Given the description of an element on the screen output the (x, y) to click on. 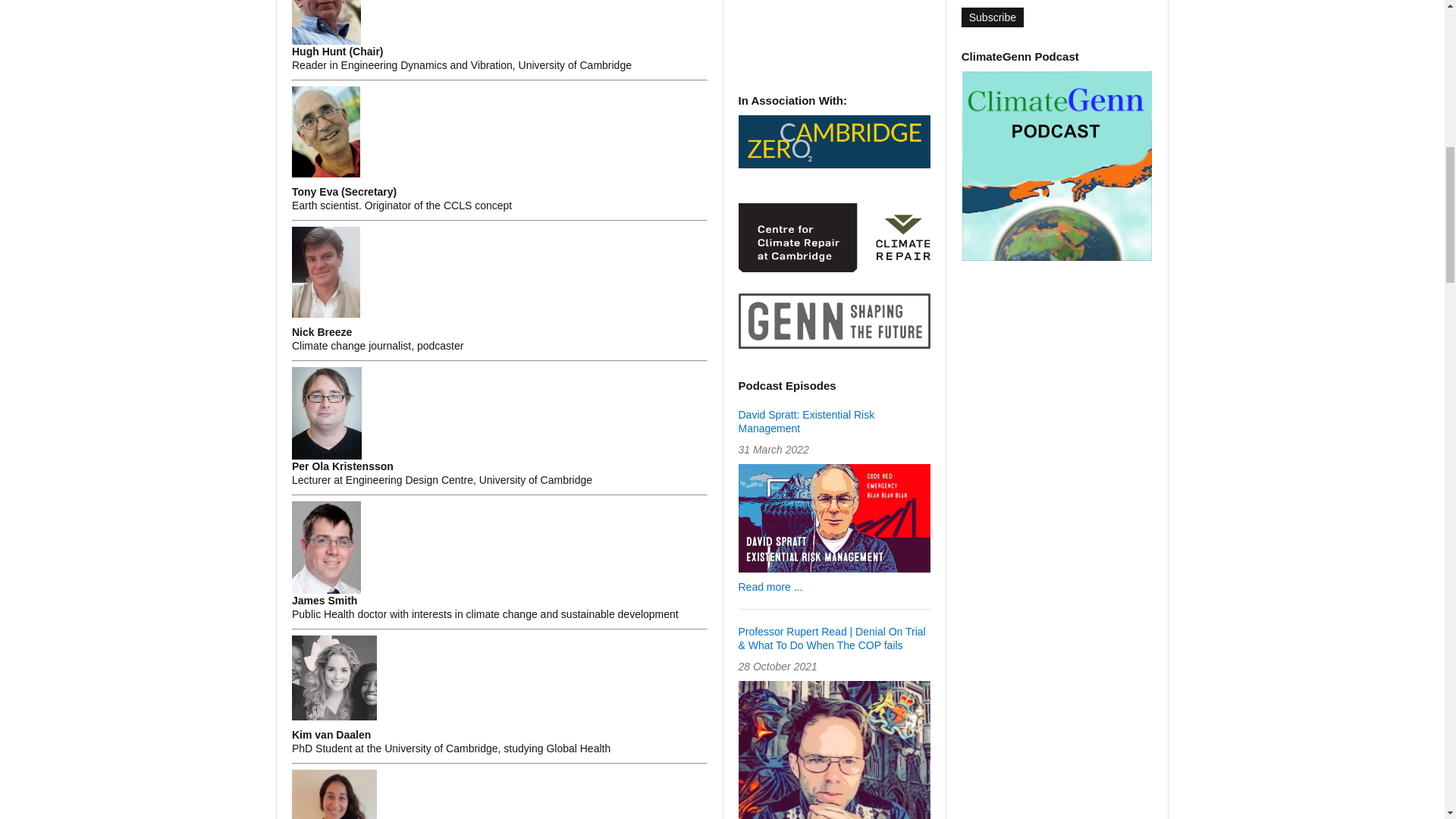
David Spratt: Existential Risk Management (806, 421)
Nick Breeze Climate Podcast (834, 320)
Subscribe (991, 17)
Climate Change Podcast (1056, 166)
